Given the description of an element on the screen output the (x, y) to click on. 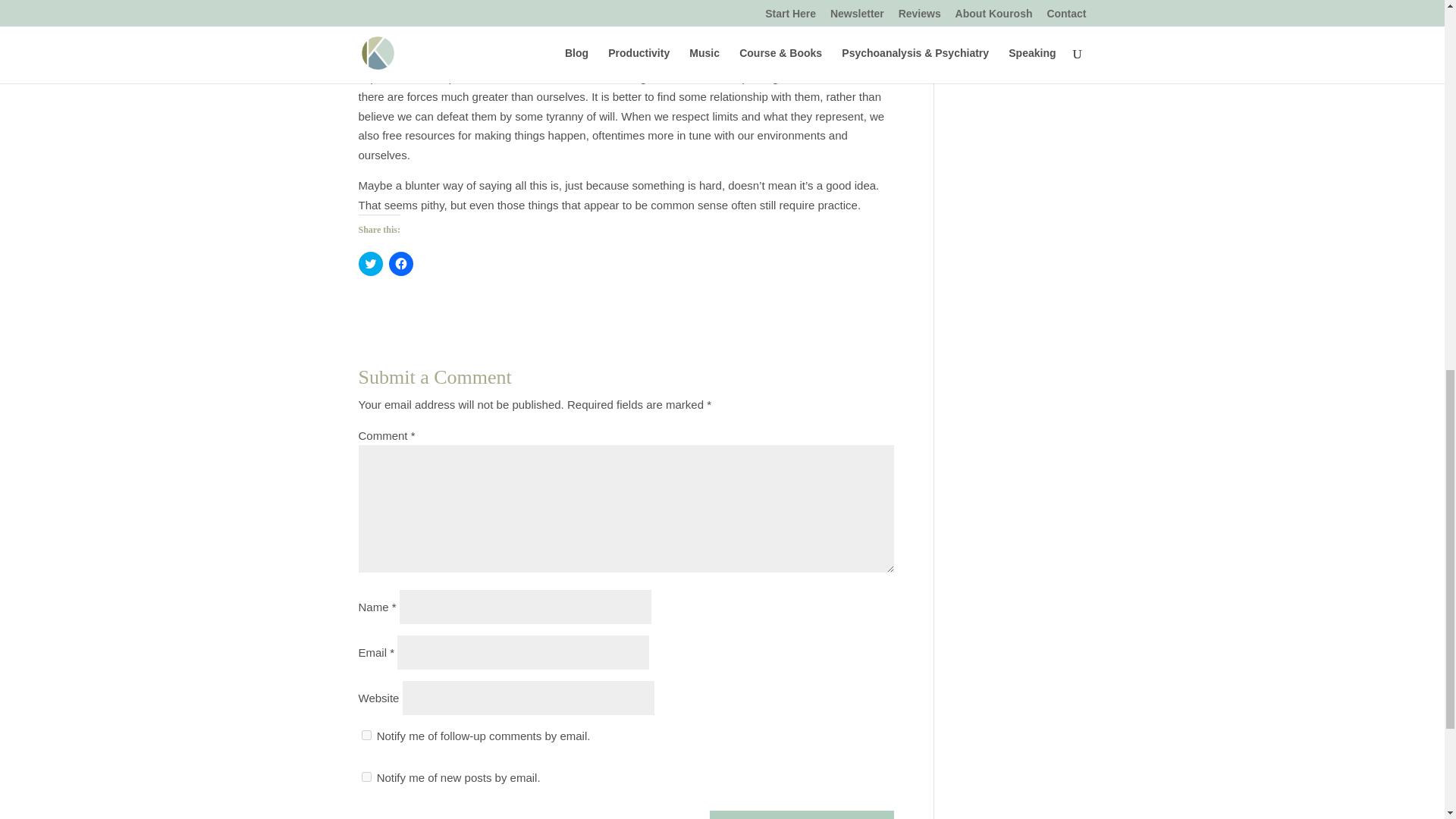
subscribe (366, 777)
Submit Comment (802, 814)
Click to share on Twitter (369, 263)
Submit Comment (802, 814)
Click to share on Facebook (400, 263)
subscribe (366, 735)
